Given the description of an element on the screen output the (x, y) to click on. 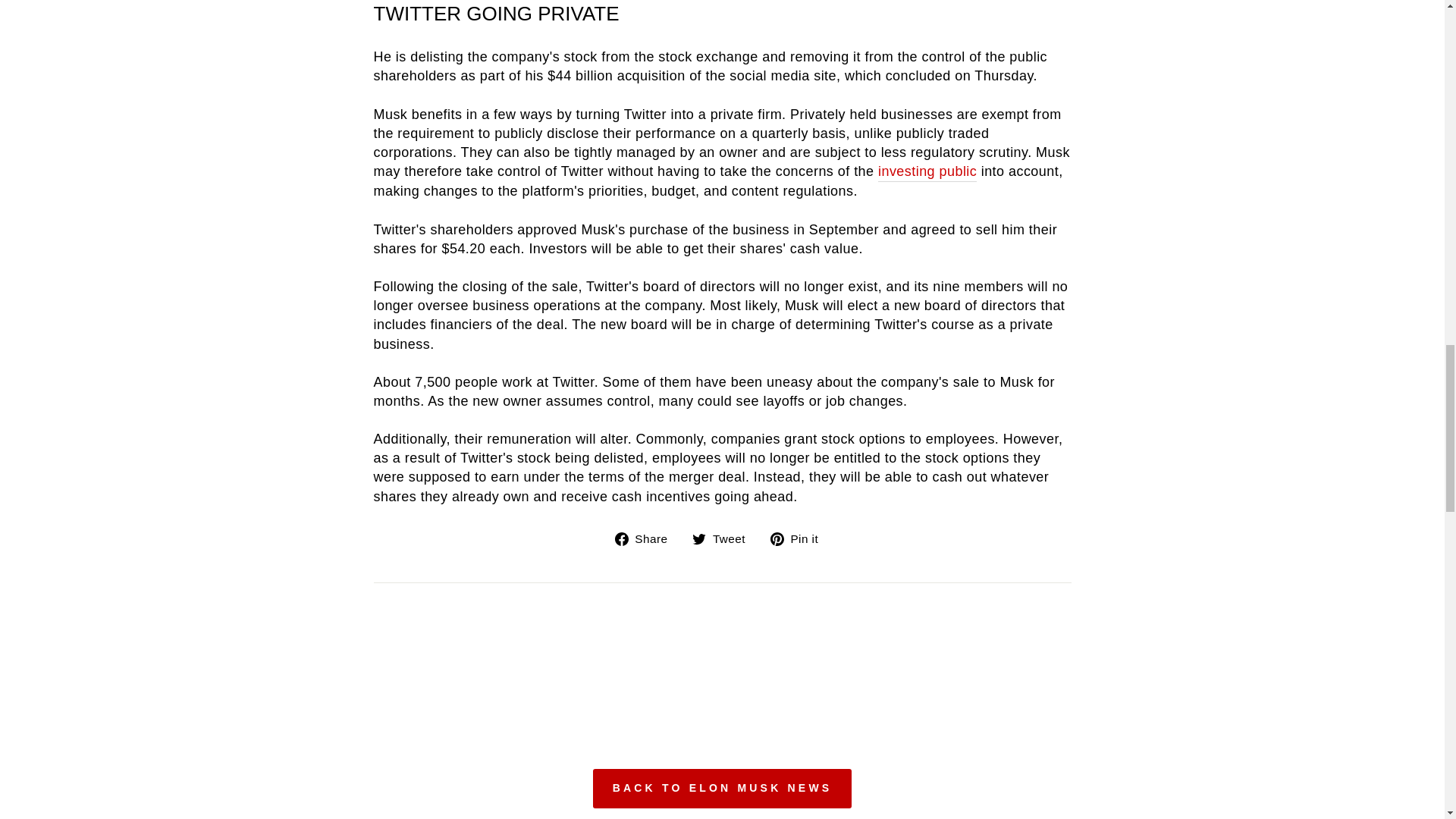
Tweet on Twitter (725, 538)
Pin on Pinterest (799, 538)
Share on Facebook (646, 538)
